Given the description of an element on the screen output the (x, y) to click on. 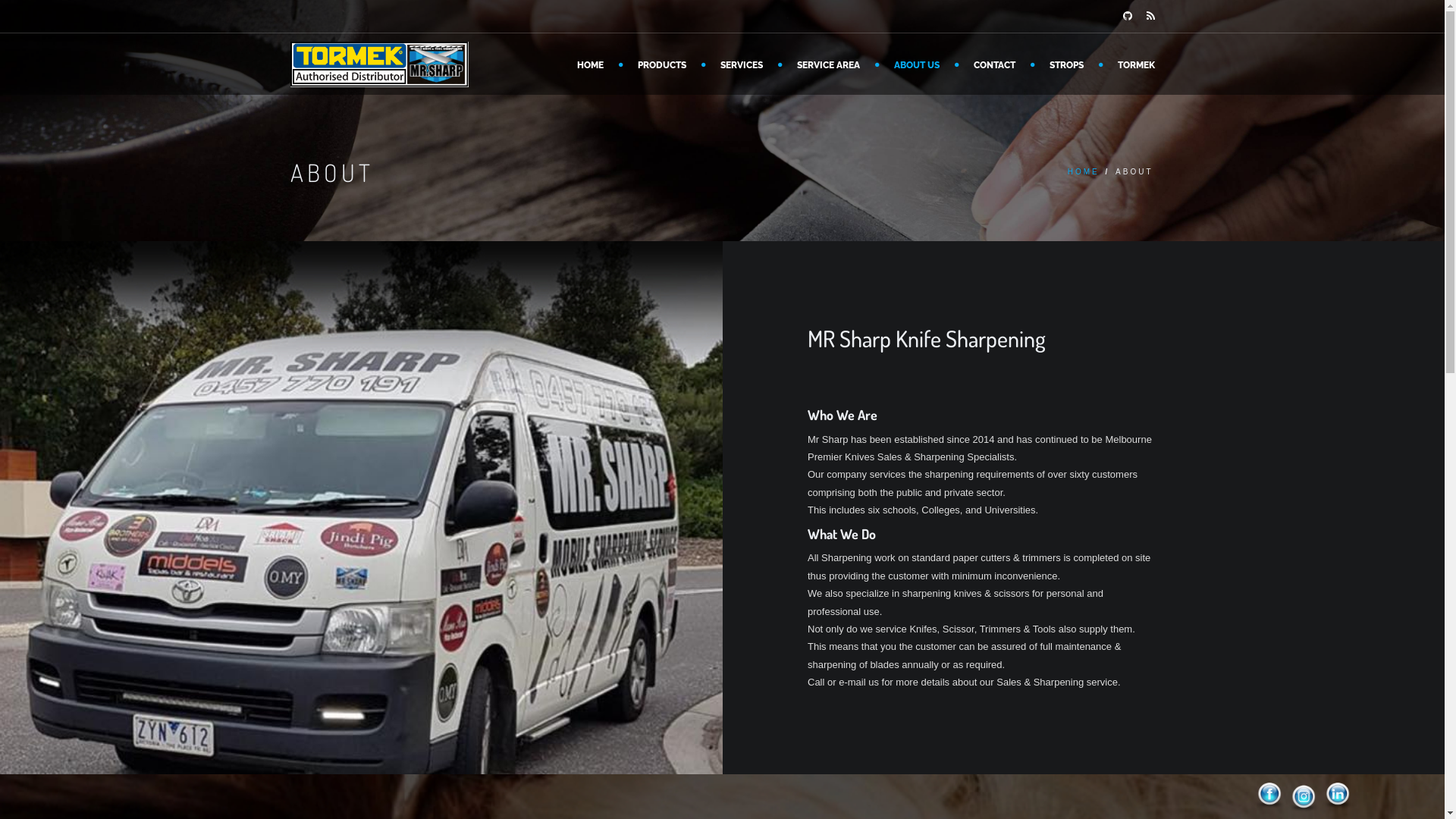
Instagram Element type: hover (1303, 797)
SERVICE AREA Element type: text (829, 63)
SERVICES Element type: text (743, 63)
LinkedIn Element type: hover (1337, 795)
ABOUT US Element type: text (917, 63)
HOME Element type: text (1083, 171)
STROPS Element type: text (1068, 63)
CONTACT Element type: text (996, 63)
HOME Element type: text (591, 63)
Facebook Element type: hover (1269, 795)
PRODUCTS Element type: text (662, 63)
TORMEK Element type: text (1128, 63)
